Given the description of an element on the screen output the (x, y) to click on. 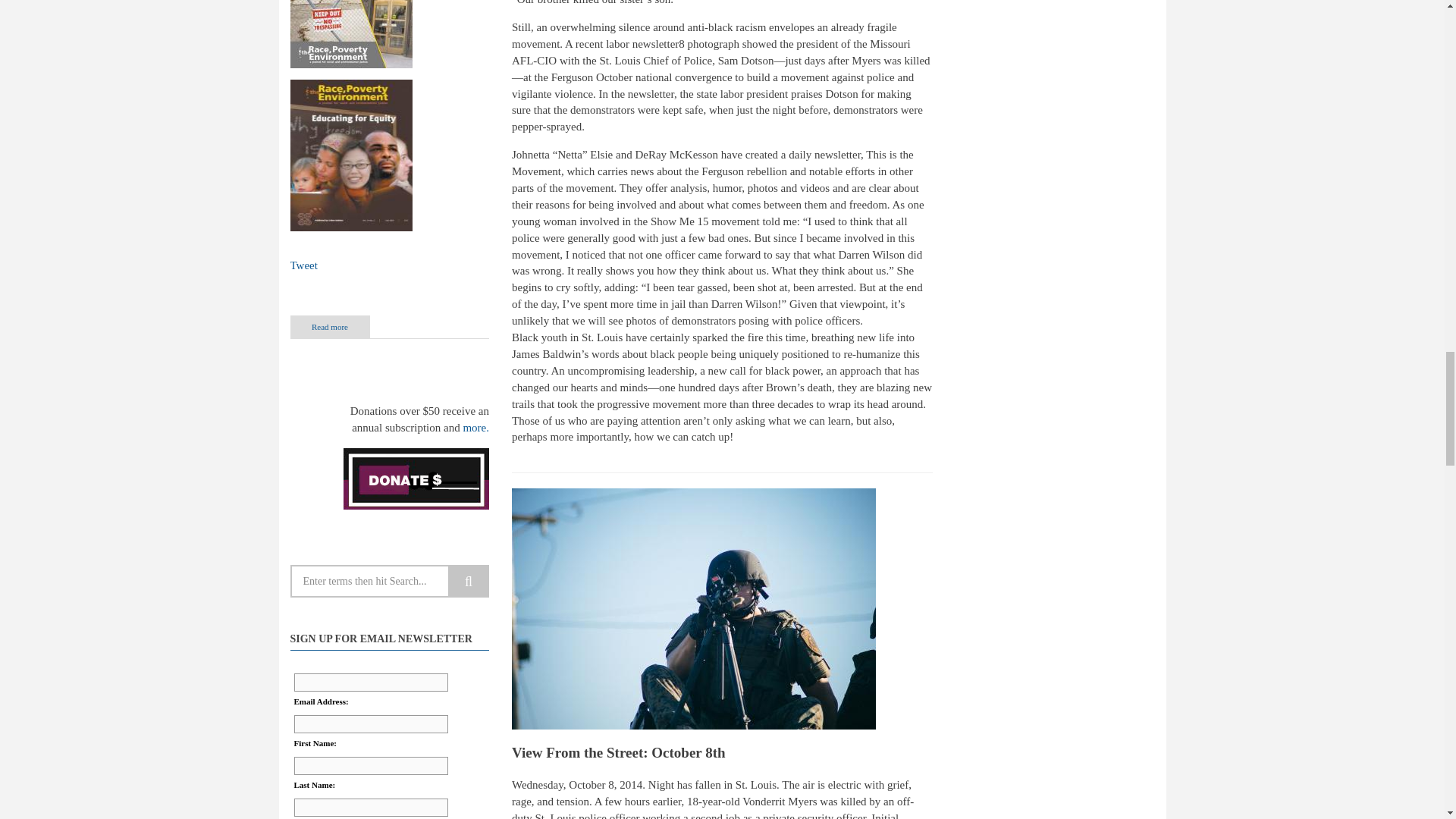
Enter terms then hit Search... (389, 581)
